Given the description of an element on the screen output the (x, y) to click on. 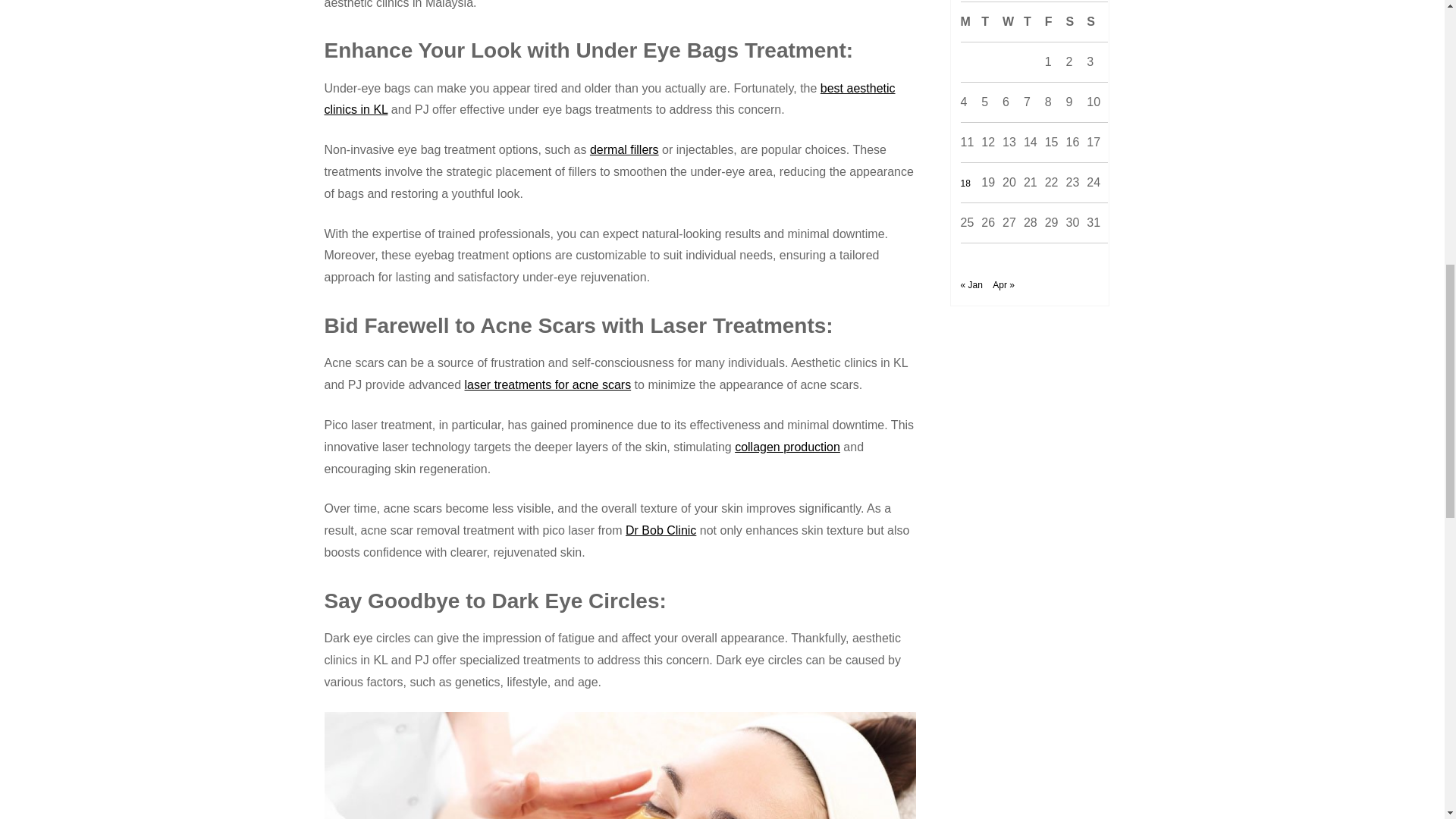
laser treatments for acne scars (547, 384)
Dr Bob Clinic (660, 530)
best aesthetic clinics in KL (609, 99)
dermal fillers (624, 149)
18 (964, 183)
collagen production (787, 446)
